Given the description of an element on the screen output the (x, y) to click on. 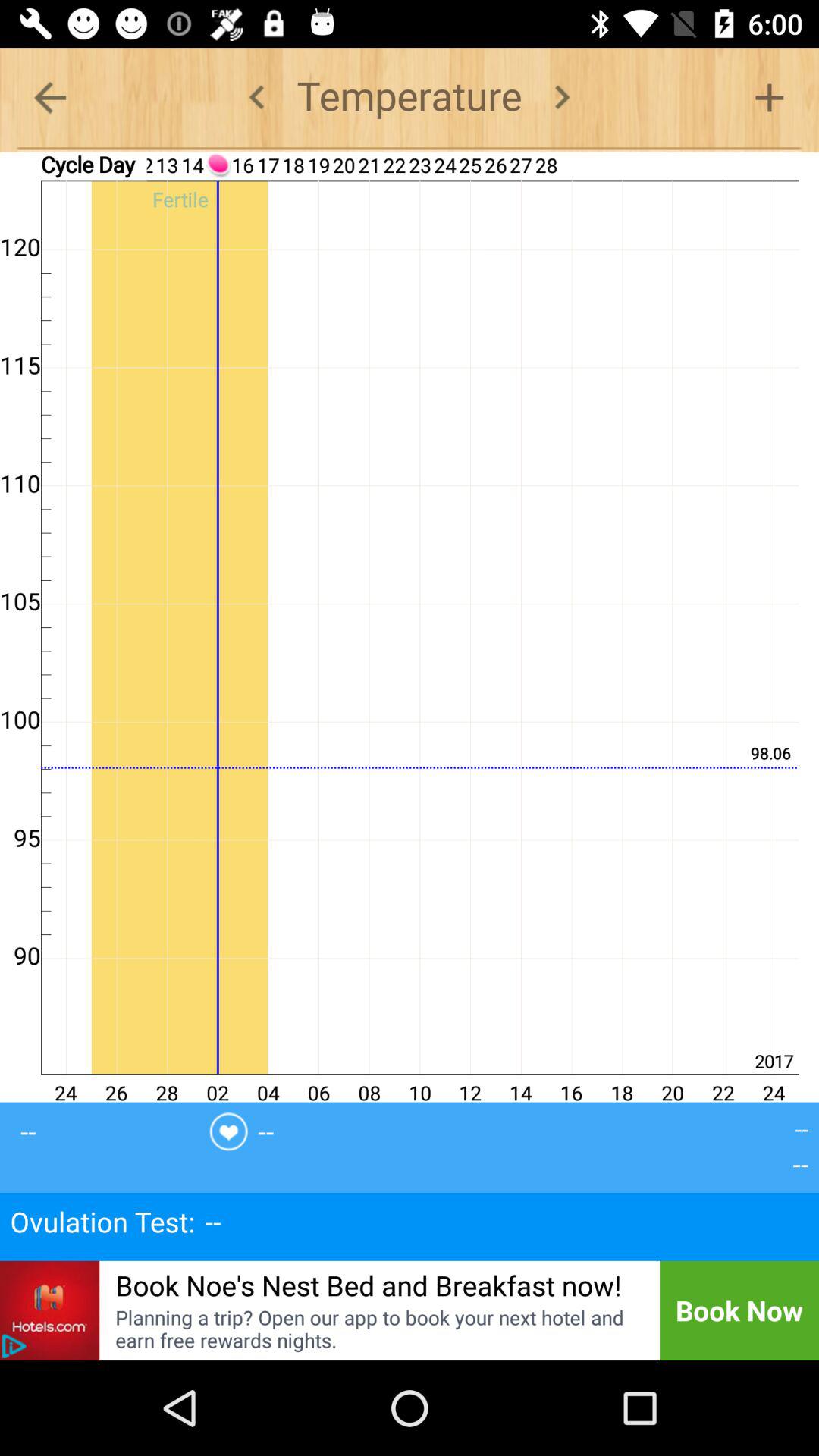
previous day tempurature (256, 97)
